Given the description of an element on the screen output the (x, y) to click on. 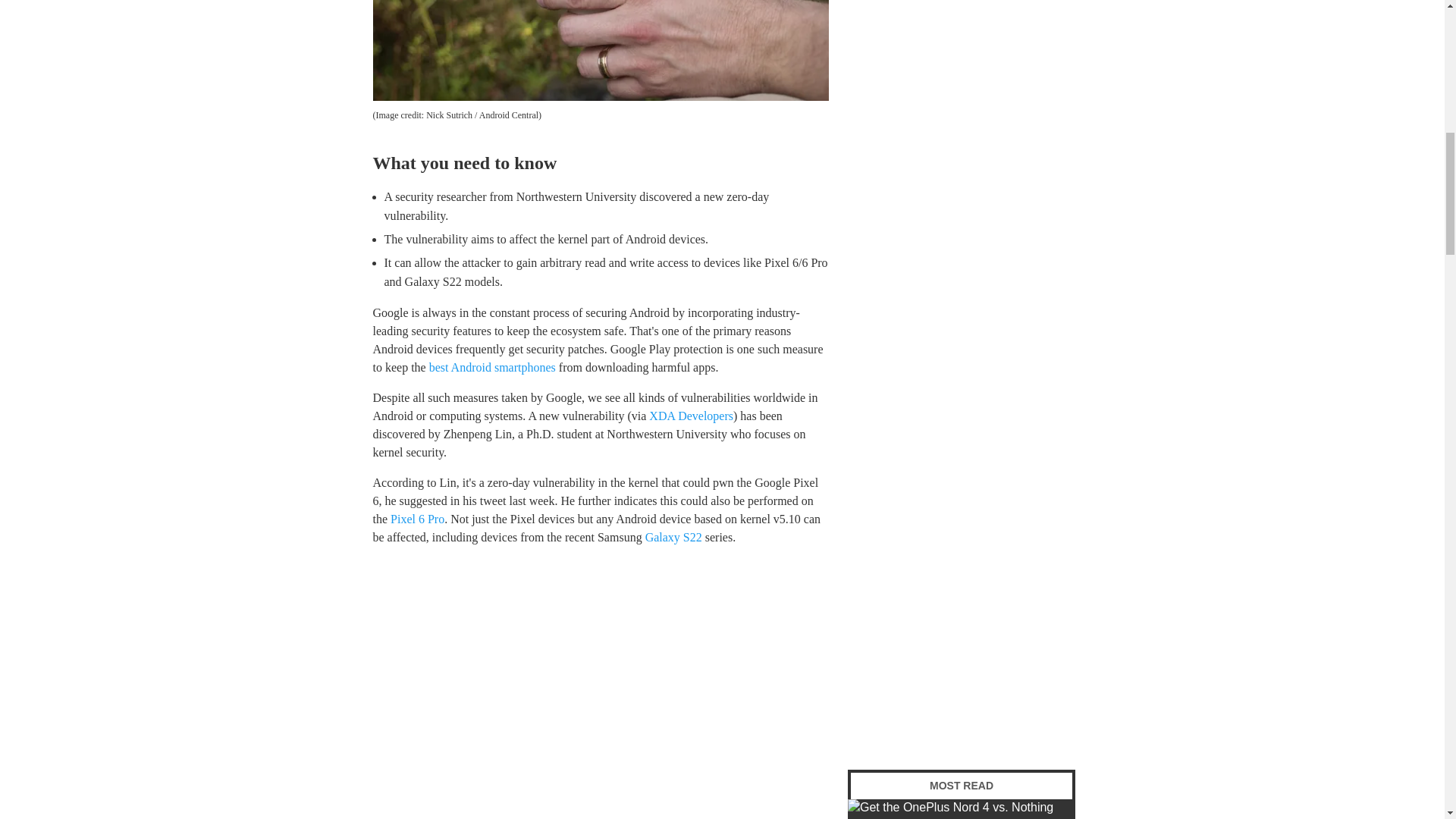
OnePlus Nord 4 vs. Nothing Phone 2a: The winner is... (961, 809)
